Given the description of an element on the screen output the (x, y) to click on. 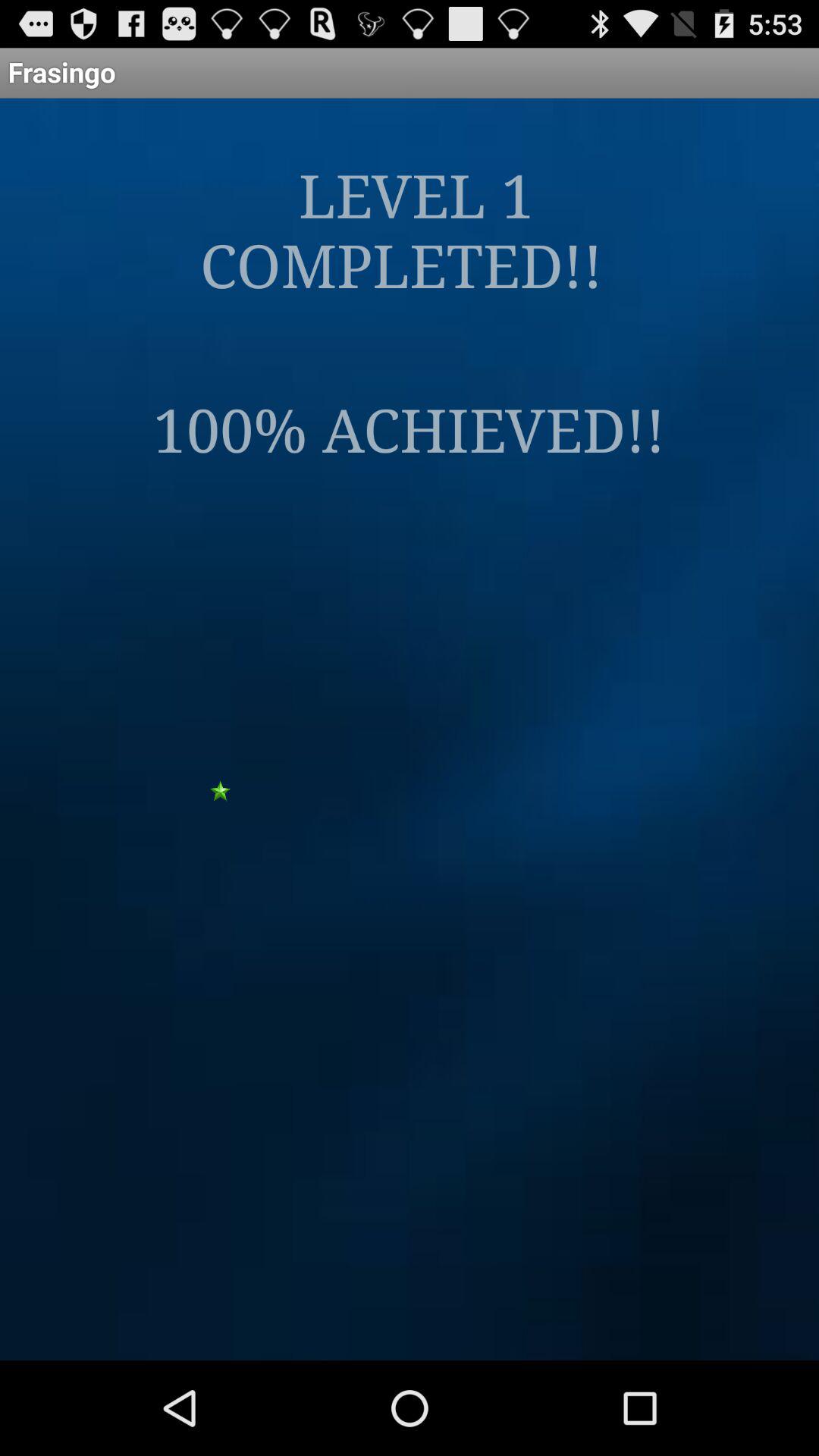
turn off icon above the  100% achieved!!  icon (408, 228)
